Given the description of an element on the screen output the (x, y) to click on. 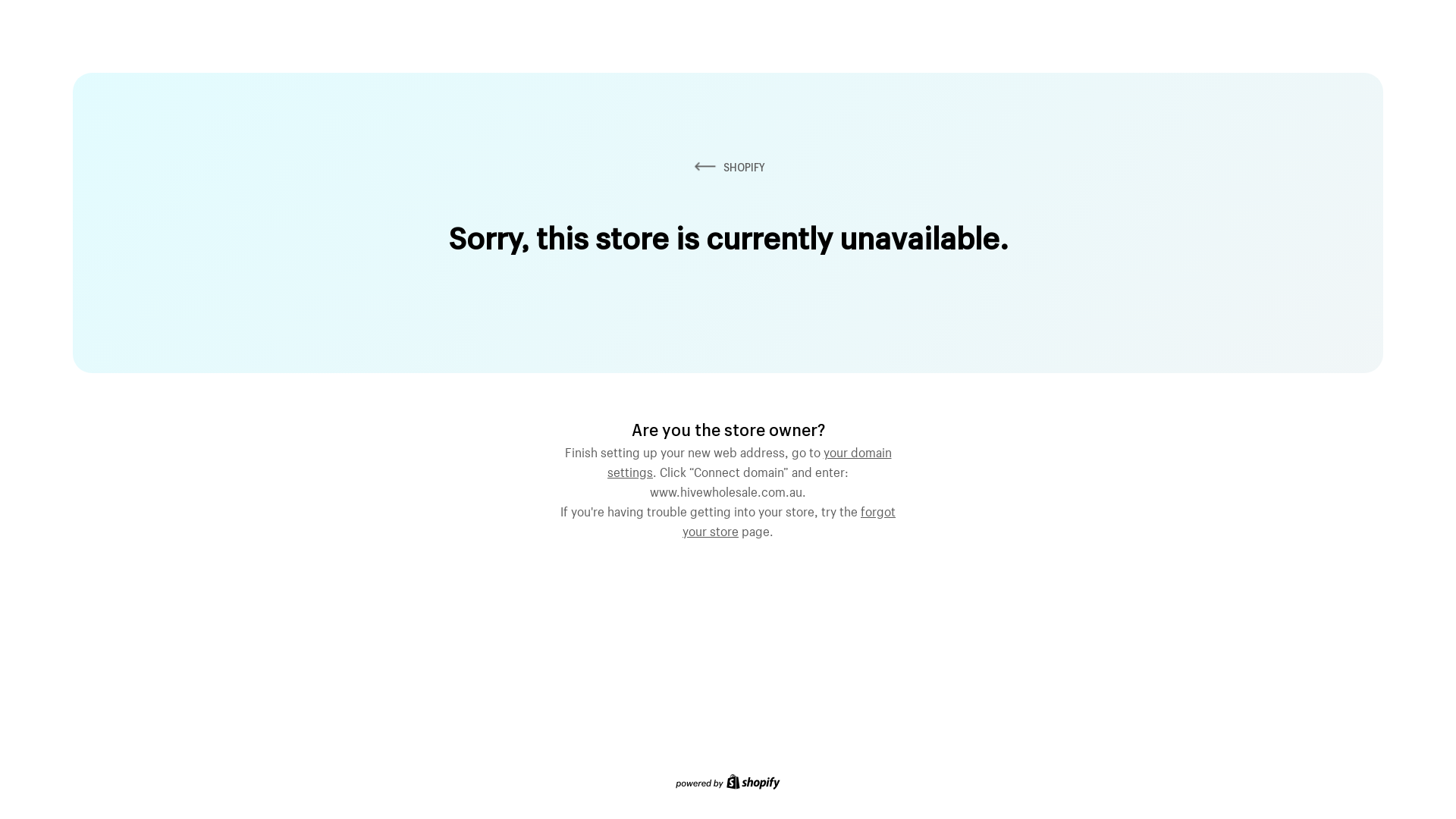
your domain settings Element type: text (749, 460)
SHOPIFY Element type: text (727, 167)
forgot your store Element type: text (788, 519)
